Given the description of an element on the screen output the (x, y) to click on. 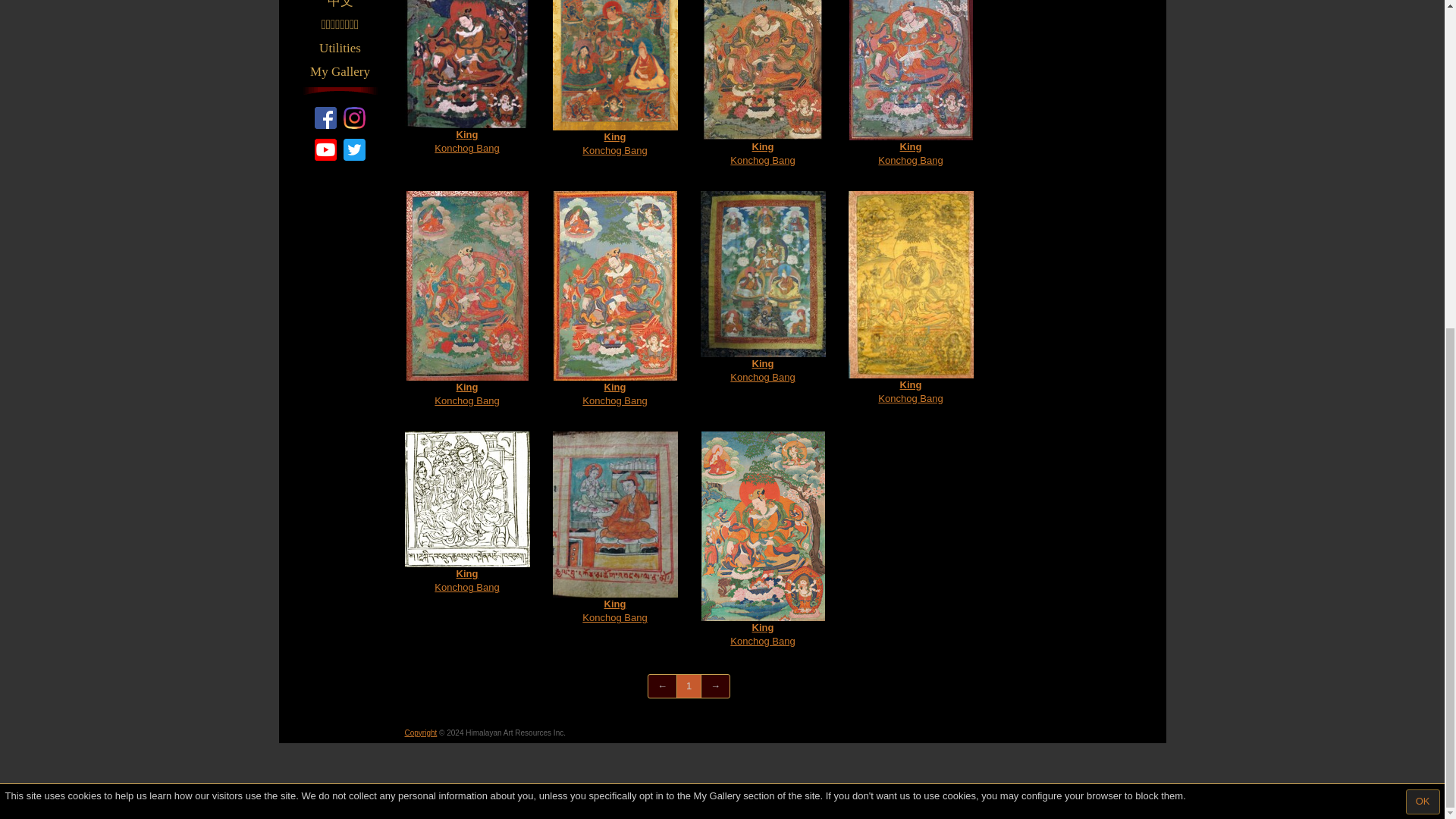
Utilities (339, 48)
My Gallery (339, 72)
